Given the description of an element on the screen output the (x, y) to click on. 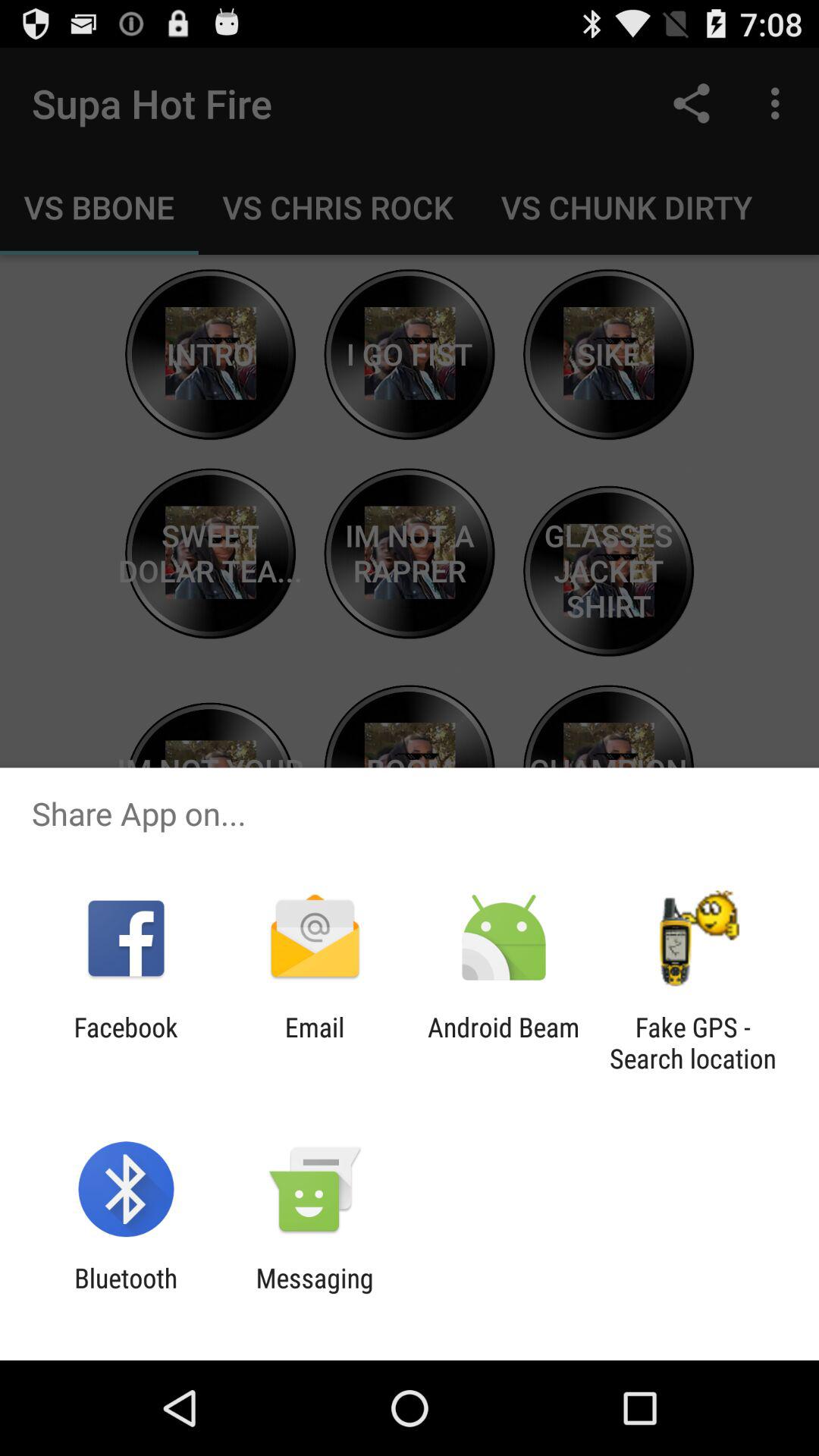
click icon next to android beam item (692, 1042)
